Given the description of an element on the screen output the (x, y) to click on. 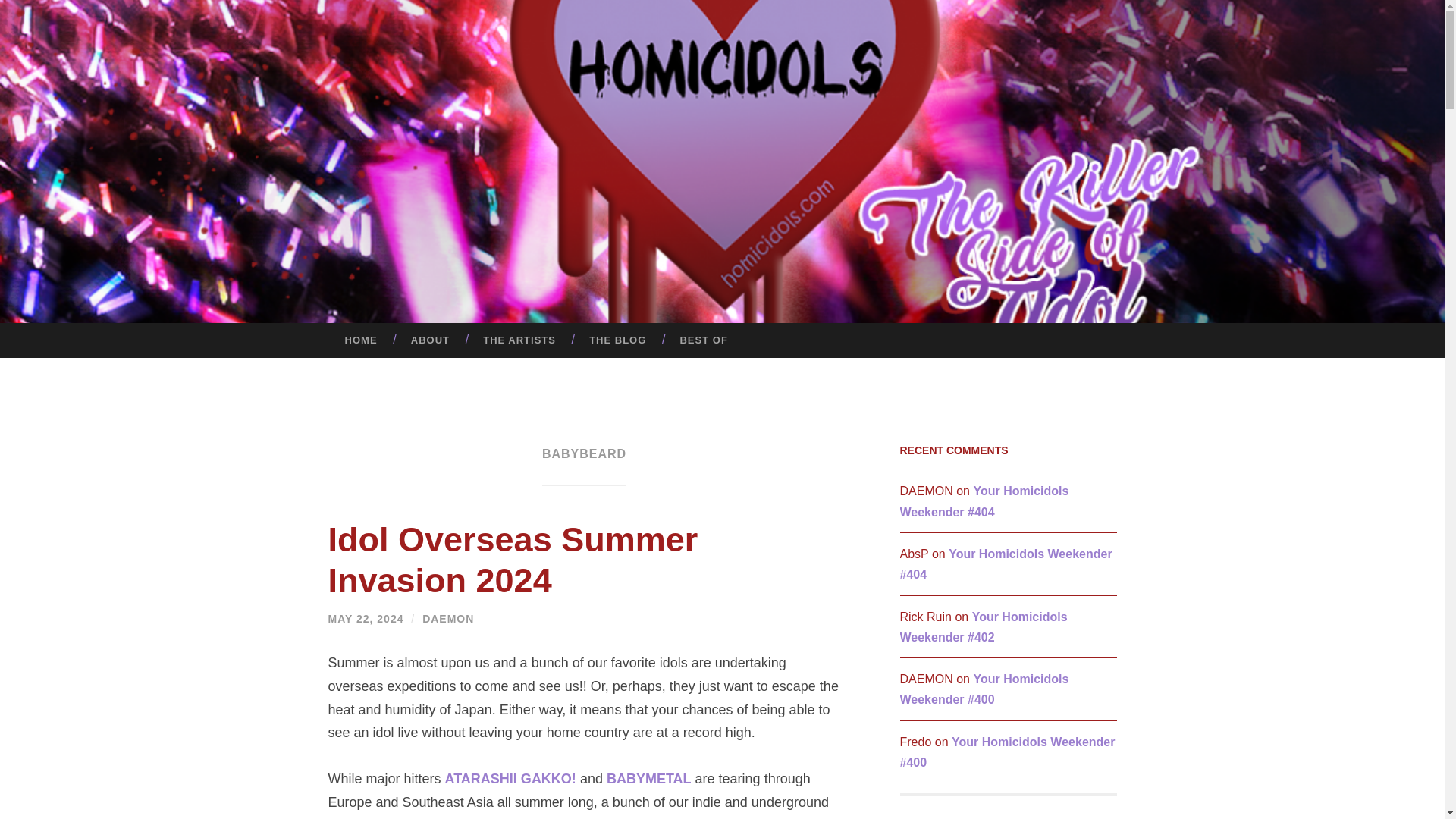
BEST OF (703, 339)
HOMICIDOLS (833, 186)
THE BLOG (617, 339)
DAEMON (448, 618)
BABYMETAL (649, 778)
THE ARTISTS (518, 339)
HOME (360, 339)
Idol Overseas Summer Invasion 2024 (512, 559)
ATARASHII GAKKO! (510, 778)
ABOUT (429, 339)
